Given the description of an element on the screen output the (x, y) to click on. 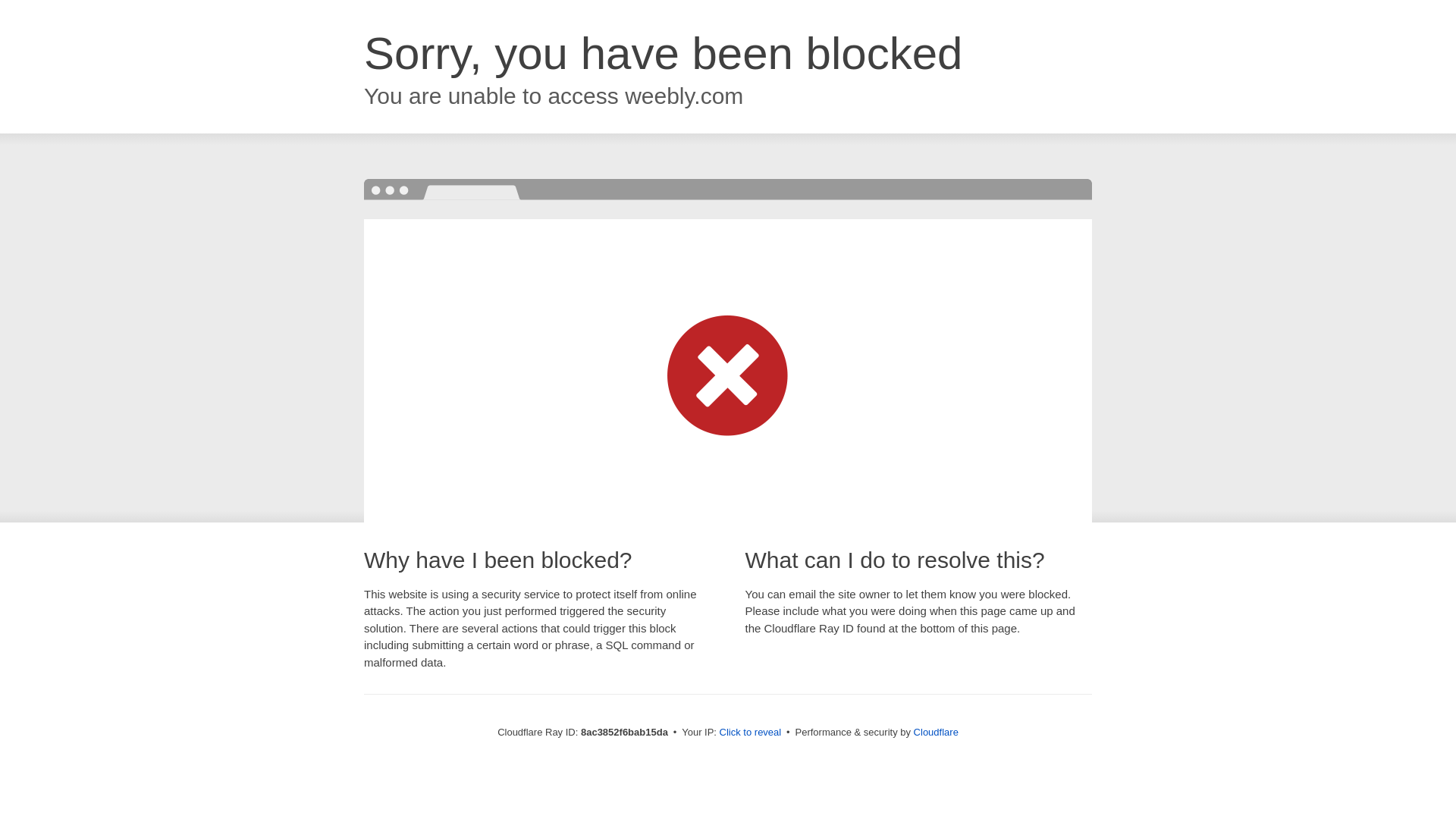
Cloudflare (936, 731)
Click to reveal (750, 732)
